Given the description of an element on the screen output the (x, y) to click on. 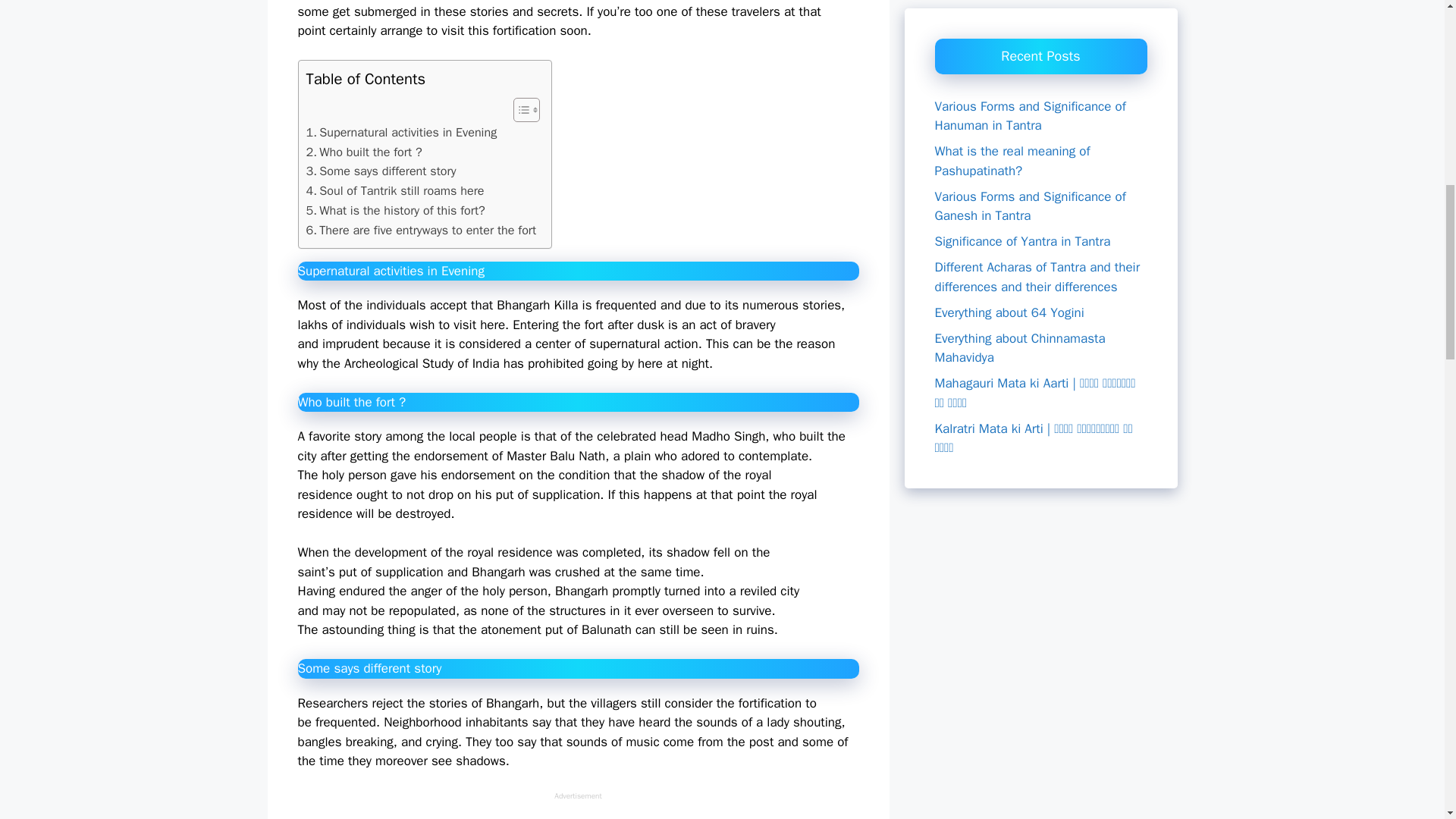
Supernatural activities in Evening (401, 132)
Supernatural activities in Evening  (401, 132)
Who built the fort ?  (363, 152)
Soul of Tantrik still roams here (394, 190)
There are five entryways to enter the fort (421, 230)
What is the history of this fort? (394, 210)
Some says different story (381, 170)
Scroll back to top (1406, 720)
Some says different story  (381, 170)
